Given the description of an element on the screen output the (x, y) to click on. 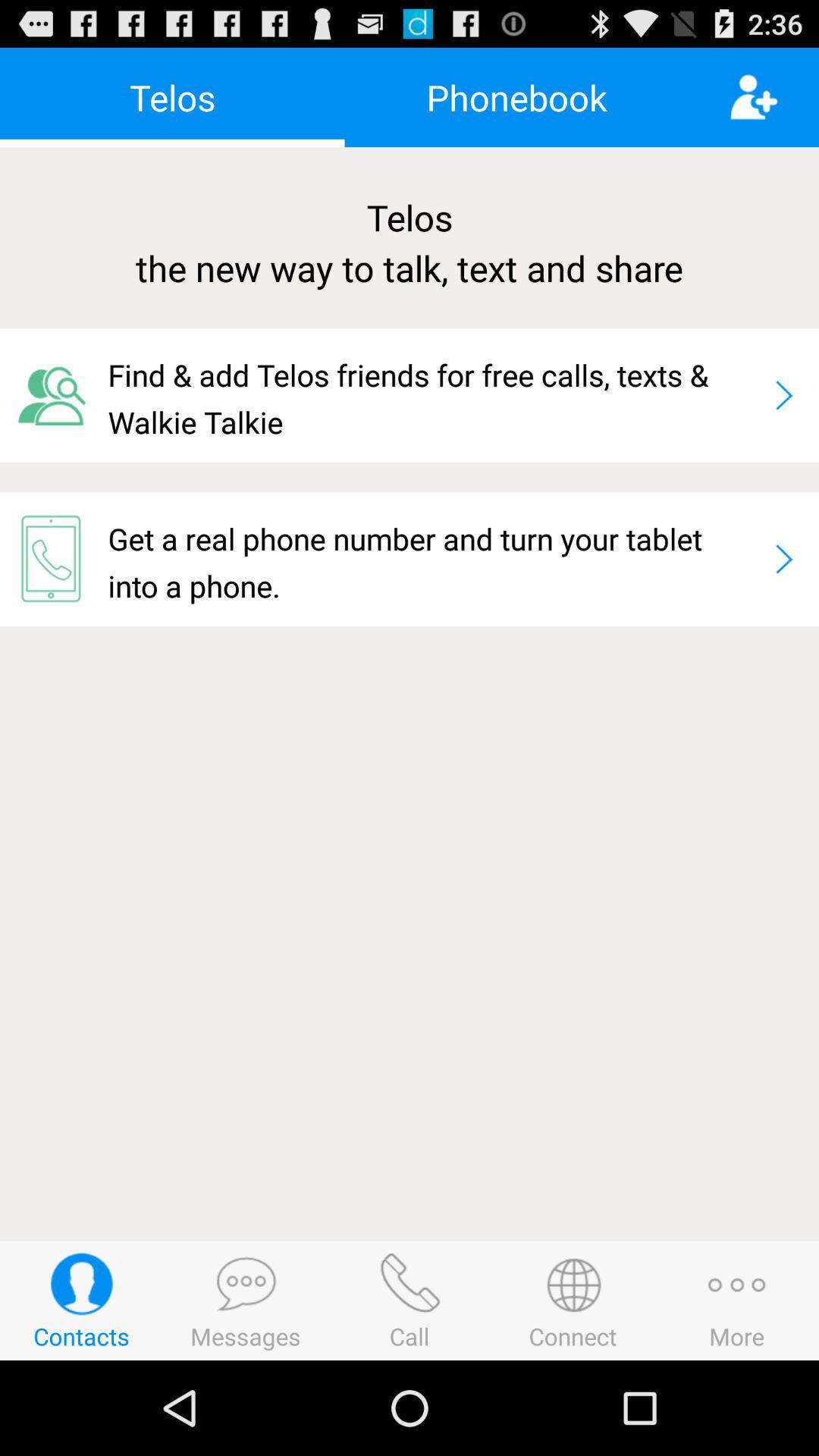
choose the item next to the phonebook icon (774, 97)
